Given the description of an element on the screen output the (x, y) to click on. 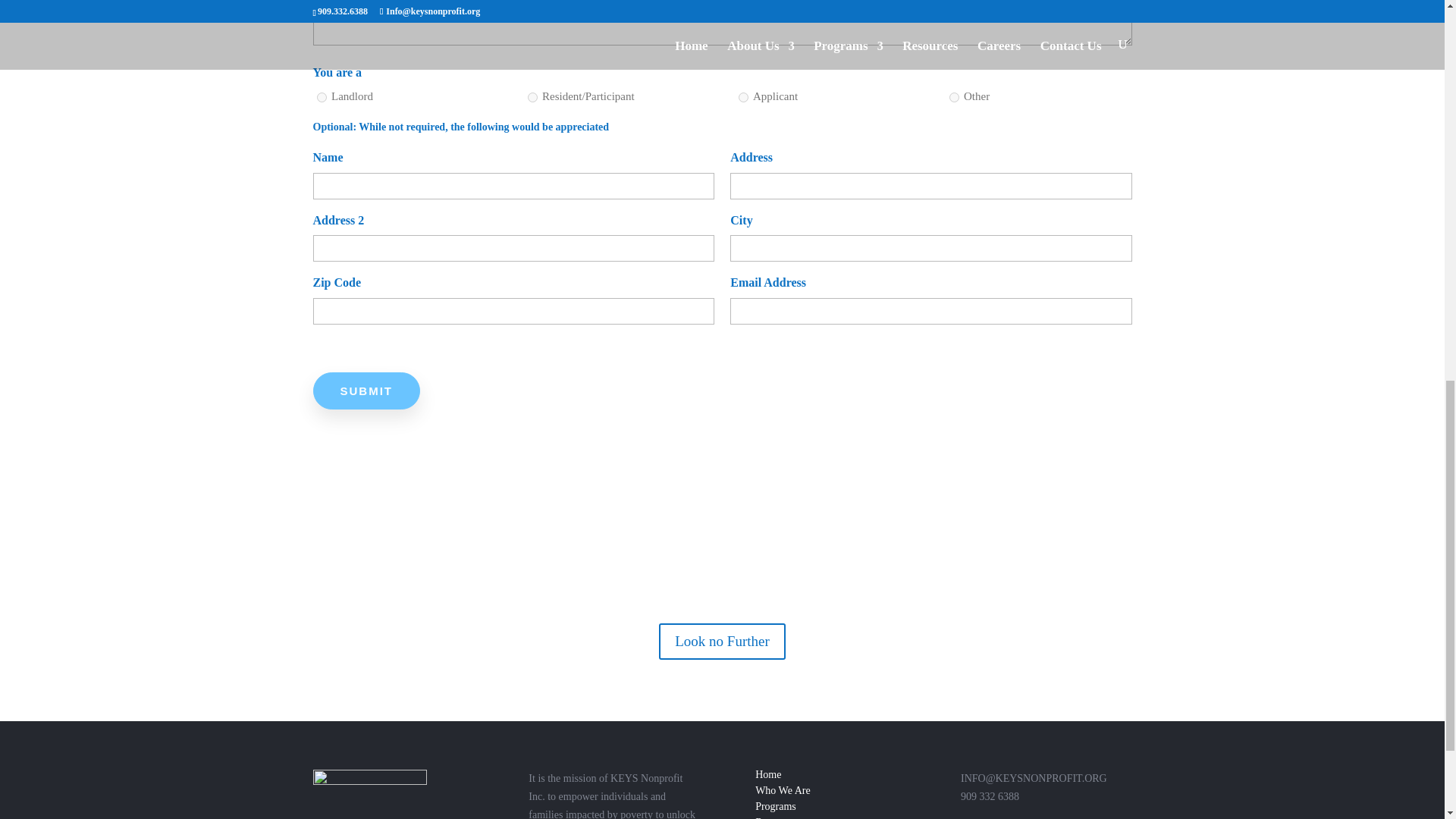
Submit (366, 390)
Resources (777, 817)
Programs (775, 806)
Who We Are (782, 790)
Home (767, 774)
Look no Further (722, 641)
